Given the description of an element on the screen output the (x, y) to click on. 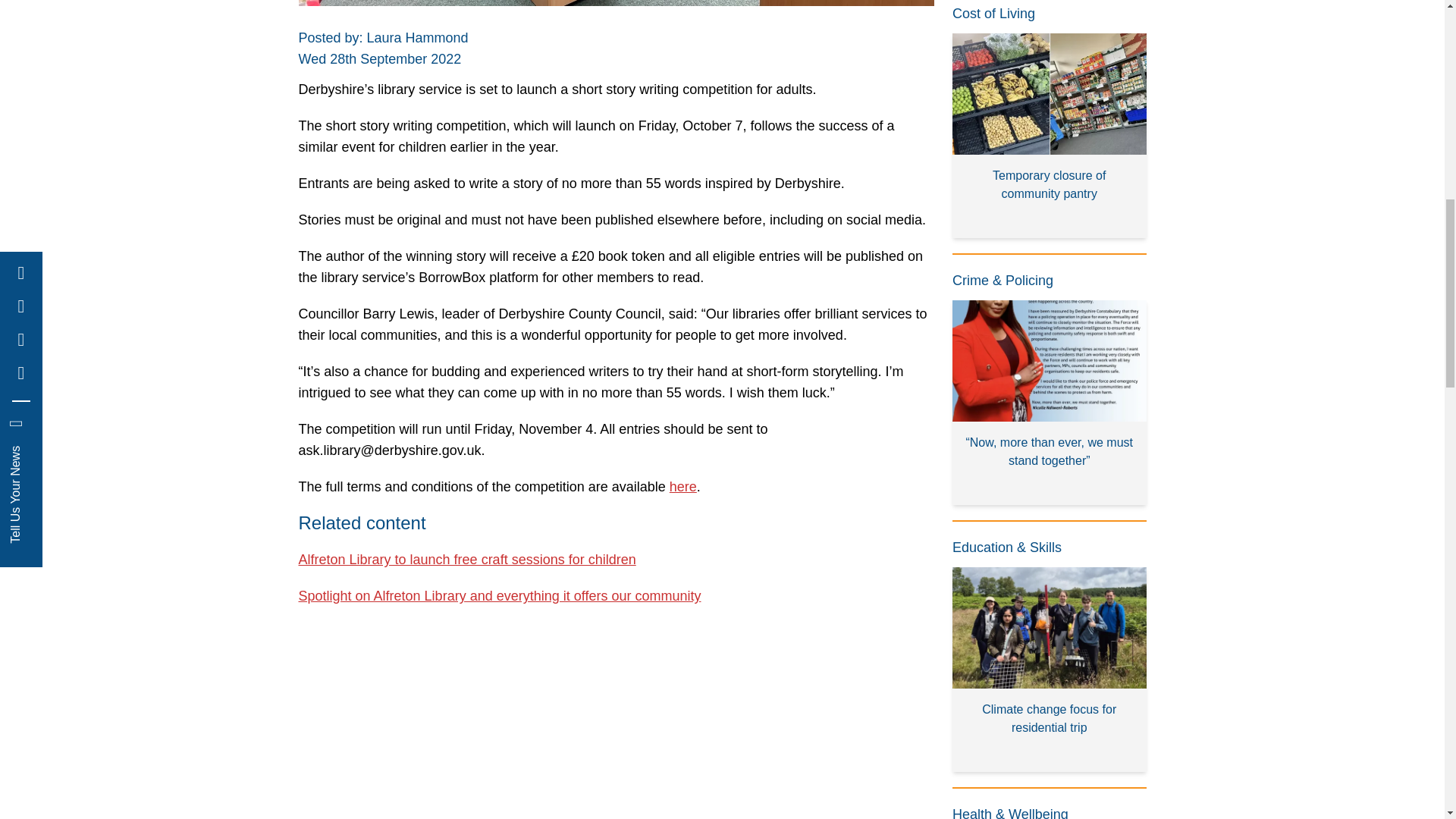
here (683, 486)
Temporary closure of community pantry (1049, 135)
Climate change focus for residential trip (1049, 669)
Alfreton Library to launch free craft sessions for children (467, 559)
